Given the description of an element on the screen output the (x, y) to click on. 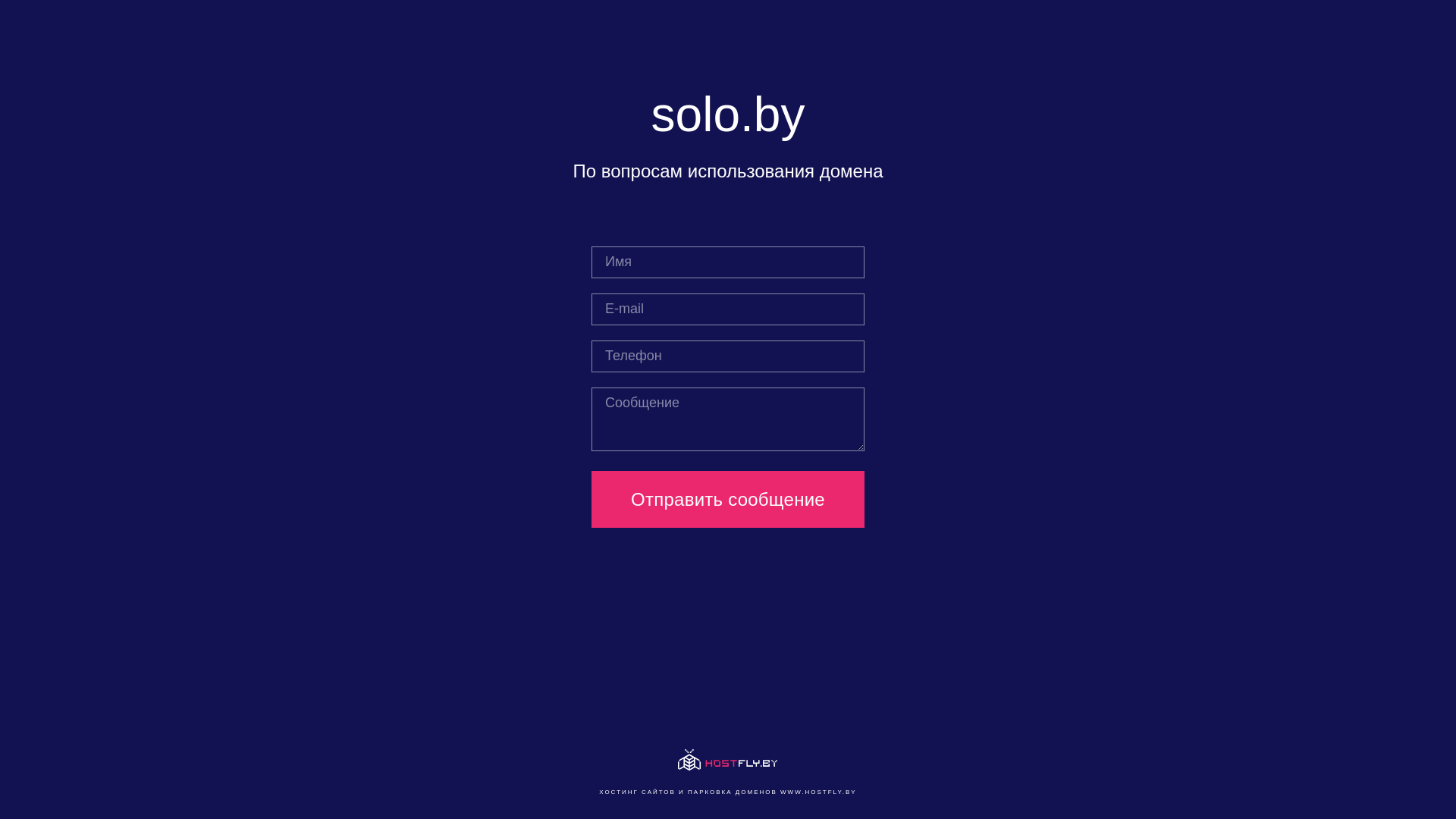
WWW.HOSTFLY.BY Element type: text (818, 791)
